Given the description of an element on the screen output the (x, y) to click on. 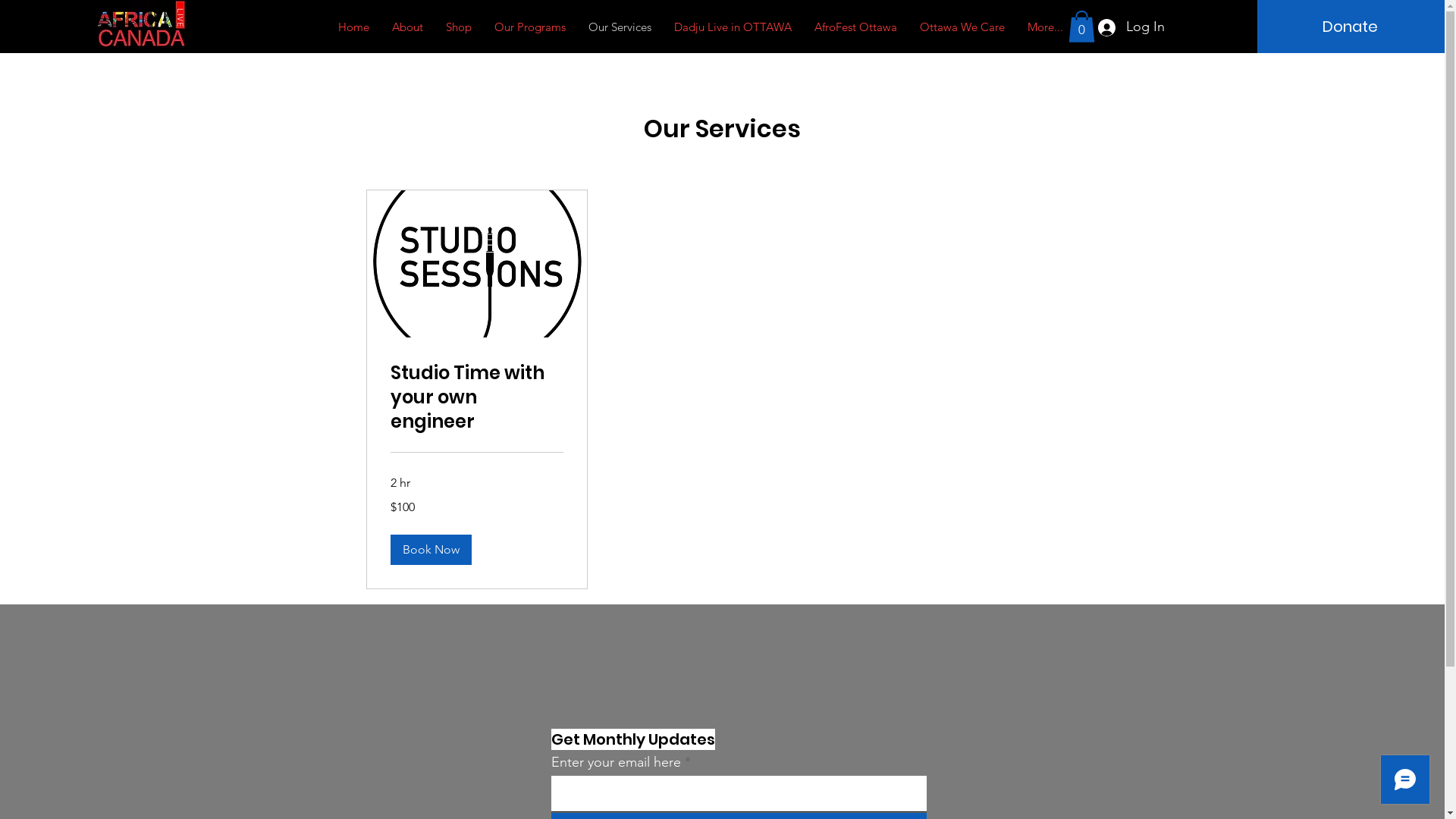
Log In Element type: text (1129, 26)
Home Element type: text (353, 27)
Ottawa We Care Element type: text (962, 27)
Donate Element type: text (1350, 26)
AfroFest Ottawa Element type: text (855, 27)
0 Element type: text (1080, 26)
About Element type: text (407, 27)
Our Services Element type: text (619, 27)
Shop Element type: text (458, 27)
Studio Time with your own engineer Element type: text (475, 396)
Dadju Live in OTTAWA Element type: text (732, 27)
Our Programs Element type: text (530, 27)
Book Now Element type: text (429, 549)
